Given the description of an element on the screen output the (x, y) to click on. 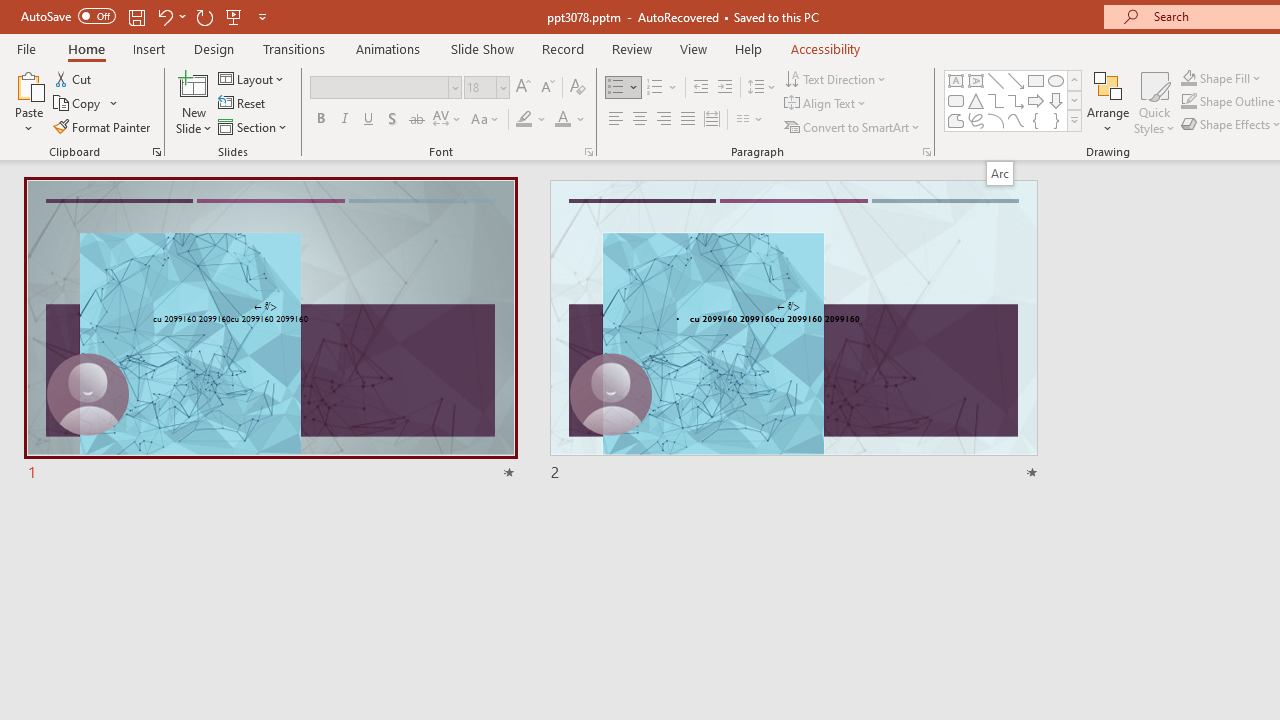
Font Color Red (562, 119)
Increase Indent (725, 87)
Rectangle: Rounded Corners (955, 100)
Decrease Indent (700, 87)
Shadow (392, 119)
Columns (750, 119)
Line Arrow (1016, 80)
Office Clipboard... (156, 151)
Text Direction (836, 78)
